Given the description of an element on the screen output the (x, y) to click on. 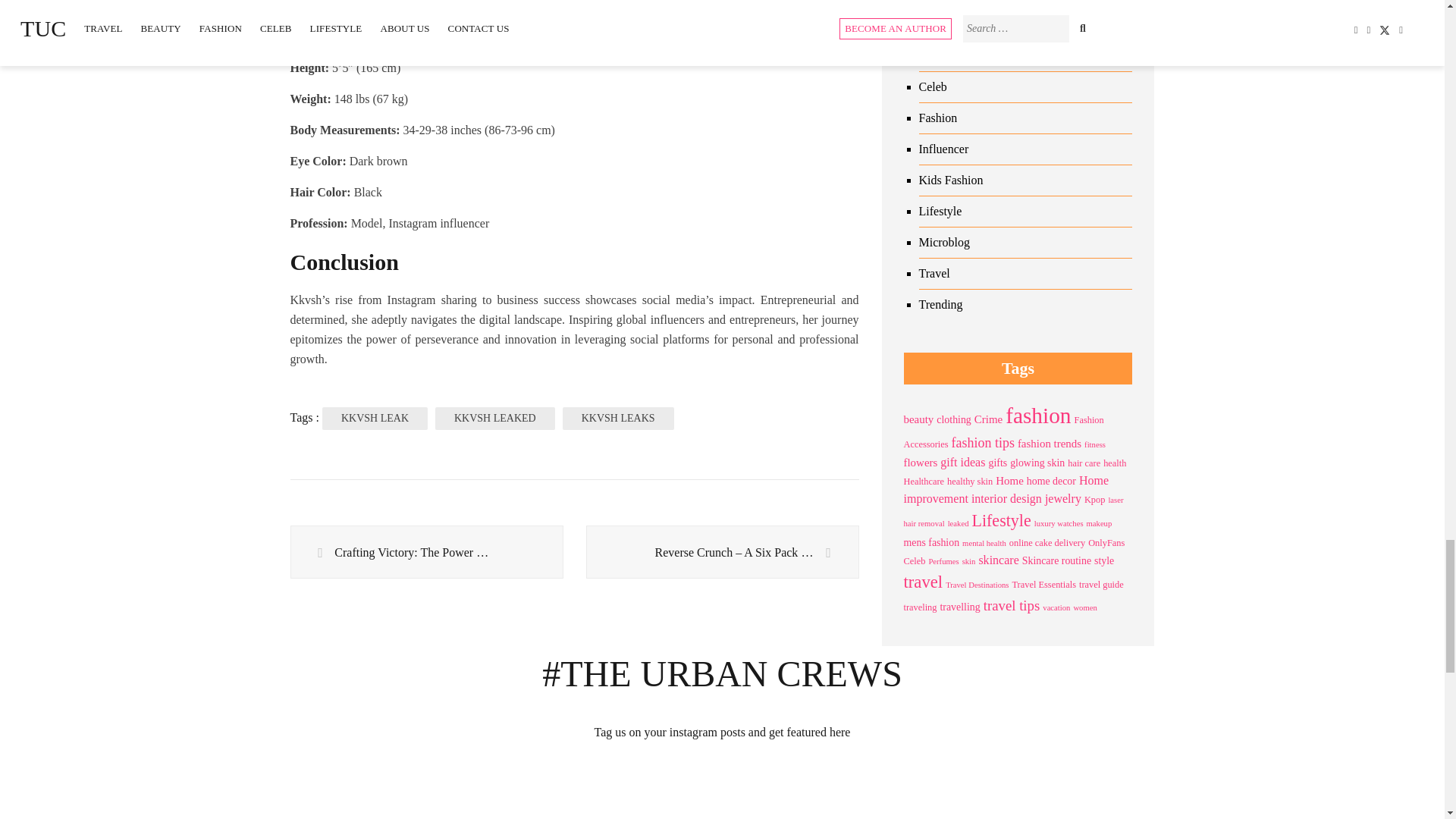
KKVSH LEAKED (494, 418)
KKVSH LEAKS (618, 418)
KKVSH LEAK (374, 418)
